Given the description of an element on the screen output the (x, y) to click on. 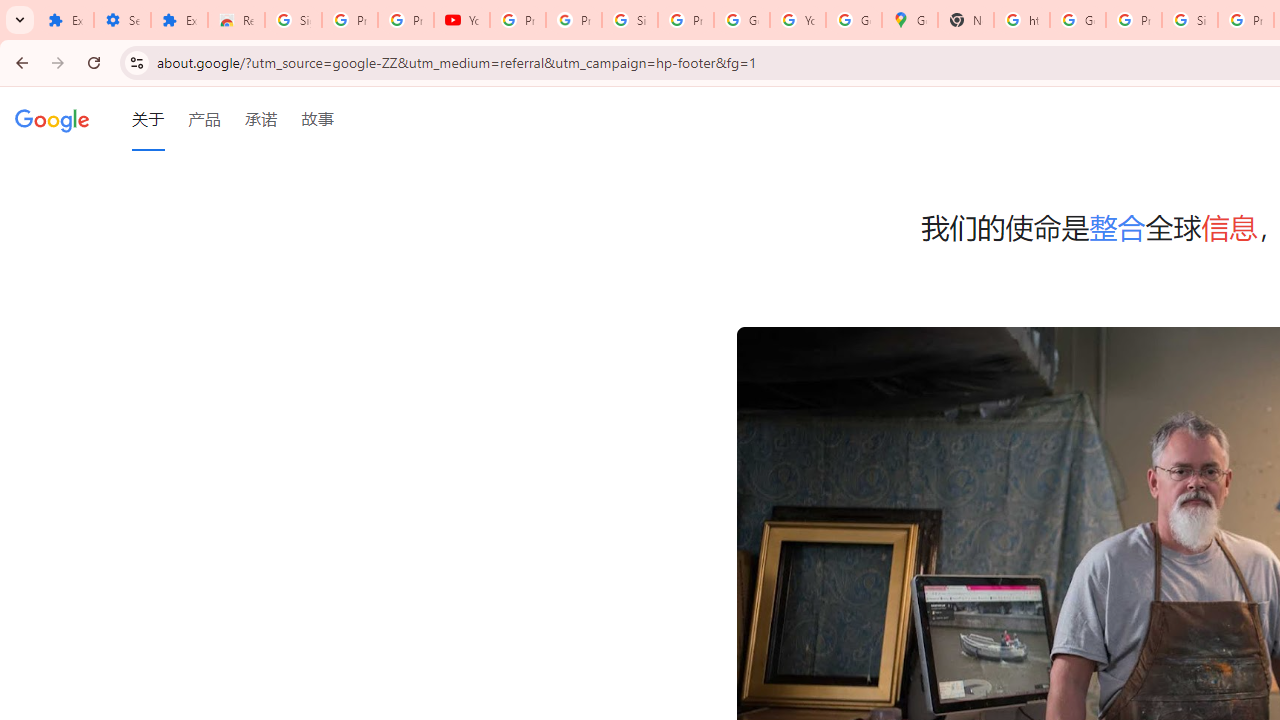
Sign in - Google Accounts (293, 20)
YouTube (797, 20)
Google Account (742, 20)
